Given the description of an element on the screen output the (x, y) to click on. 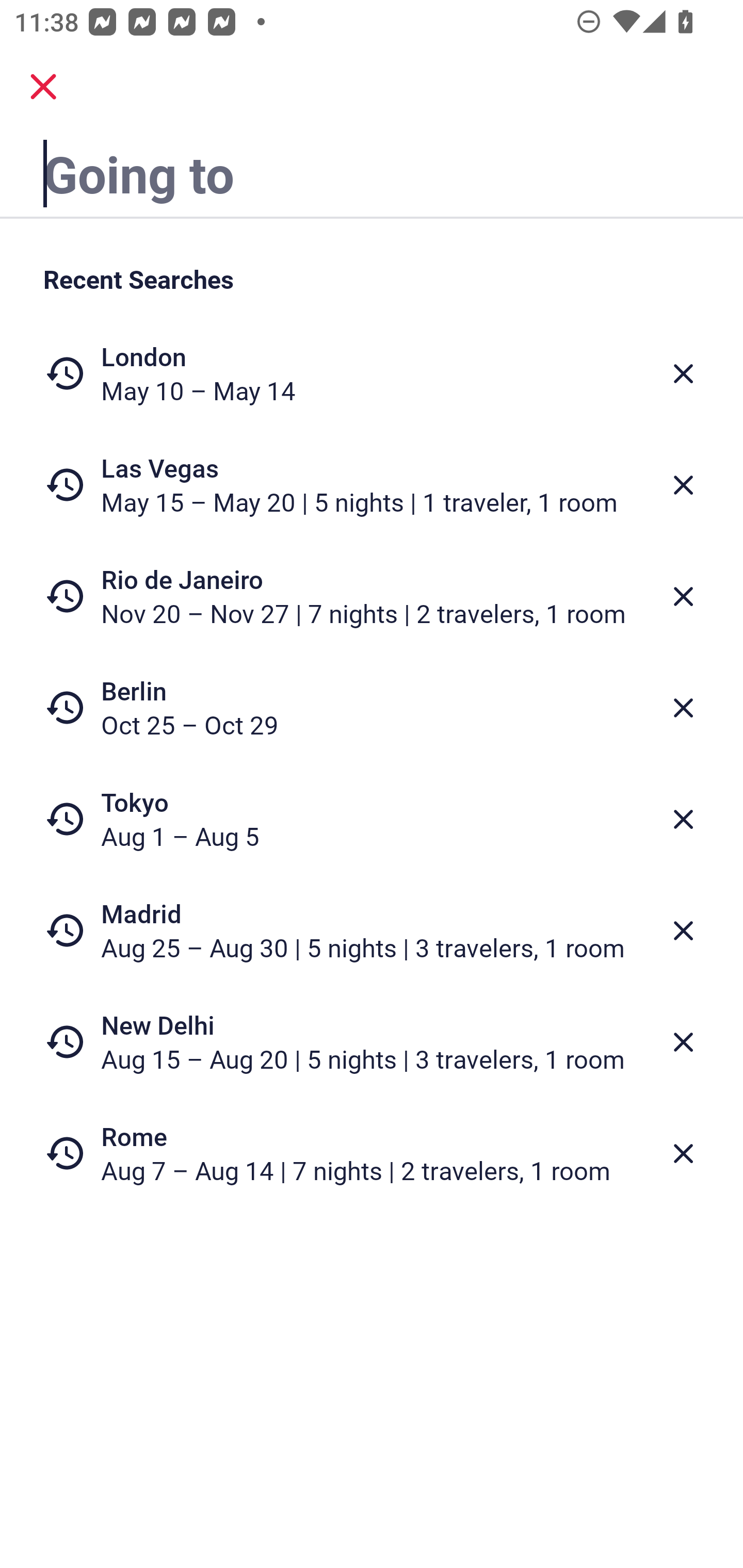
close. (43, 86)
London May 10 – May 14 (371, 373)
Delete from recent searches (683, 373)
Delete from recent searches (683, 485)
Delete from recent searches (683, 596)
Berlin Oct 25 – Oct 29 (371, 707)
Delete from recent searches (683, 707)
Tokyo Aug 1 – Aug 5 (371, 818)
Delete from recent searches (683, 819)
Delete from recent searches (683, 930)
Delete from recent searches (683, 1041)
Delete from recent searches (683, 1153)
